Given the description of an element on the screen output the (x, y) to click on. 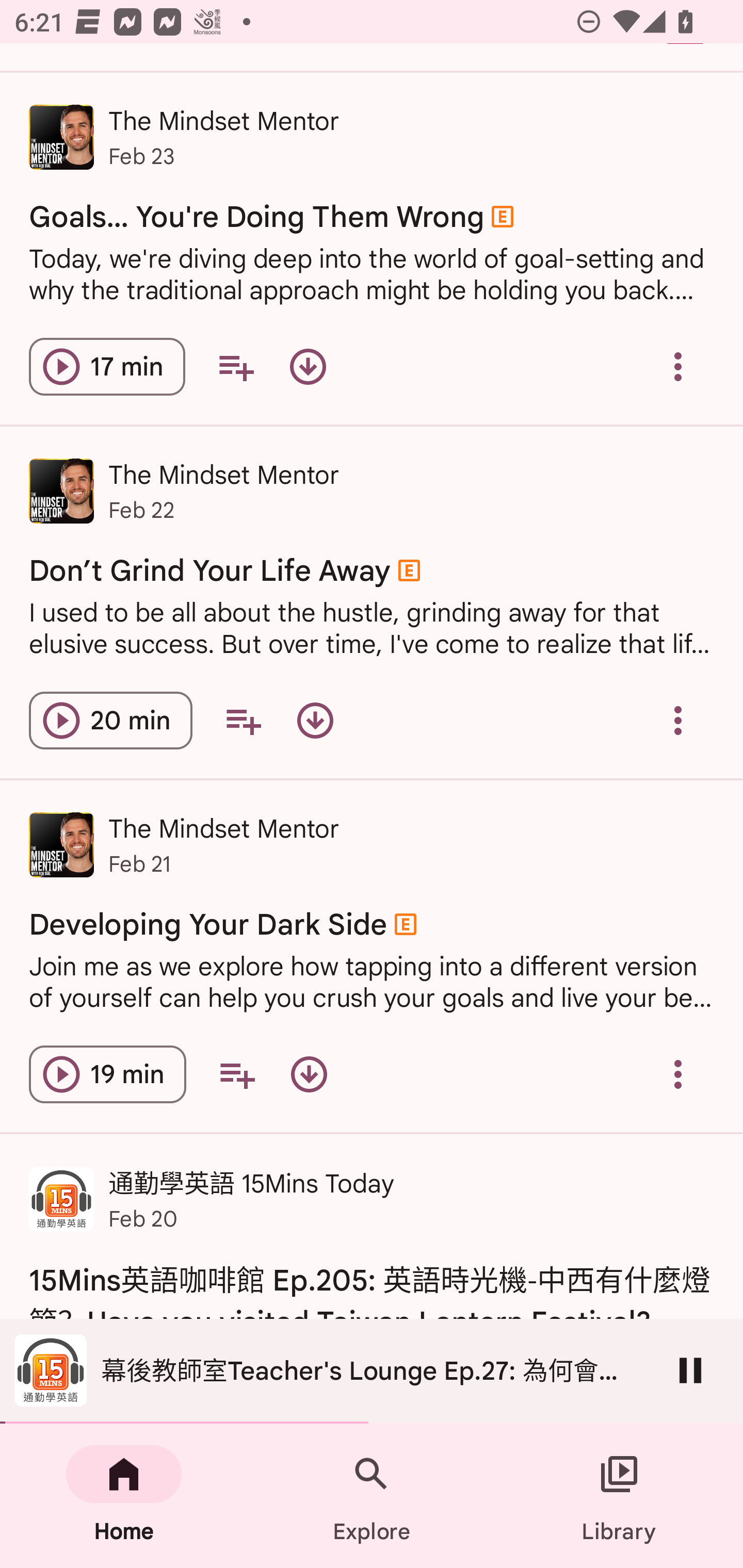
Play episode Goals… You're Doing Them Wrong 17 min (106, 366)
Add to your queue (235, 366)
Download episode (307, 366)
Overflow menu (677, 366)
Play episode Don’t Grind Your Life Away 20 min (110, 720)
Add to your queue (242, 720)
Download episode (315, 720)
Overflow menu (677, 720)
Play episode Developing Your Dark Side 19 min (107, 1074)
Add to your queue (236, 1074)
Download episode (308, 1074)
Overflow menu (677, 1074)
Pause (690, 1370)
Explore (371, 1495)
Library (619, 1495)
